Given the description of an element on the screen output the (x, y) to click on. 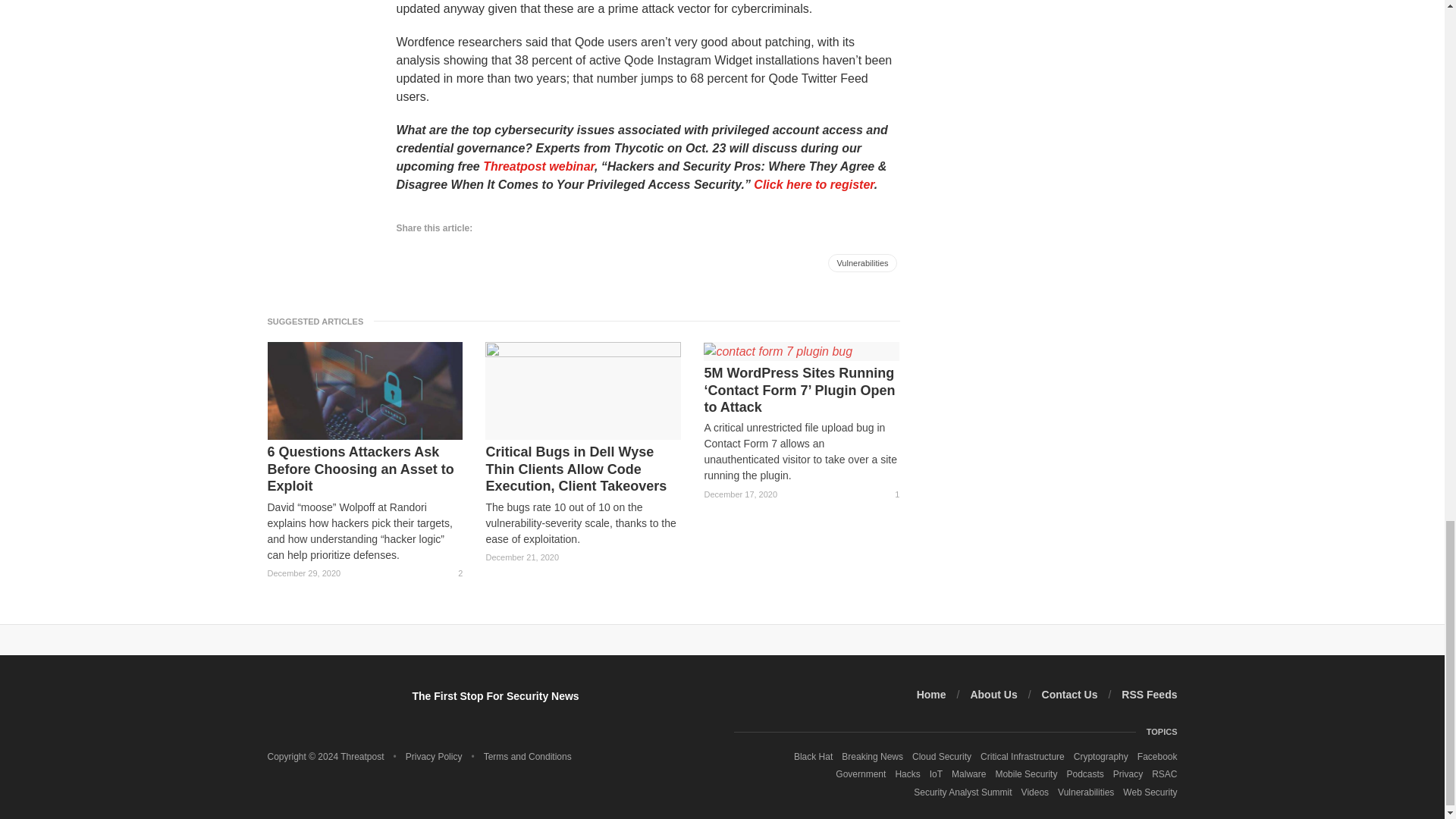
SUGGESTED ARTICLES (319, 320)
1 (889, 494)
Threatpost webinar (538, 165)
Click here to register (813, 184)
2 (453, 573)
Vulnerabilities (862, 262)
